Given the description of an element on the screen output the (x, y) to click on. 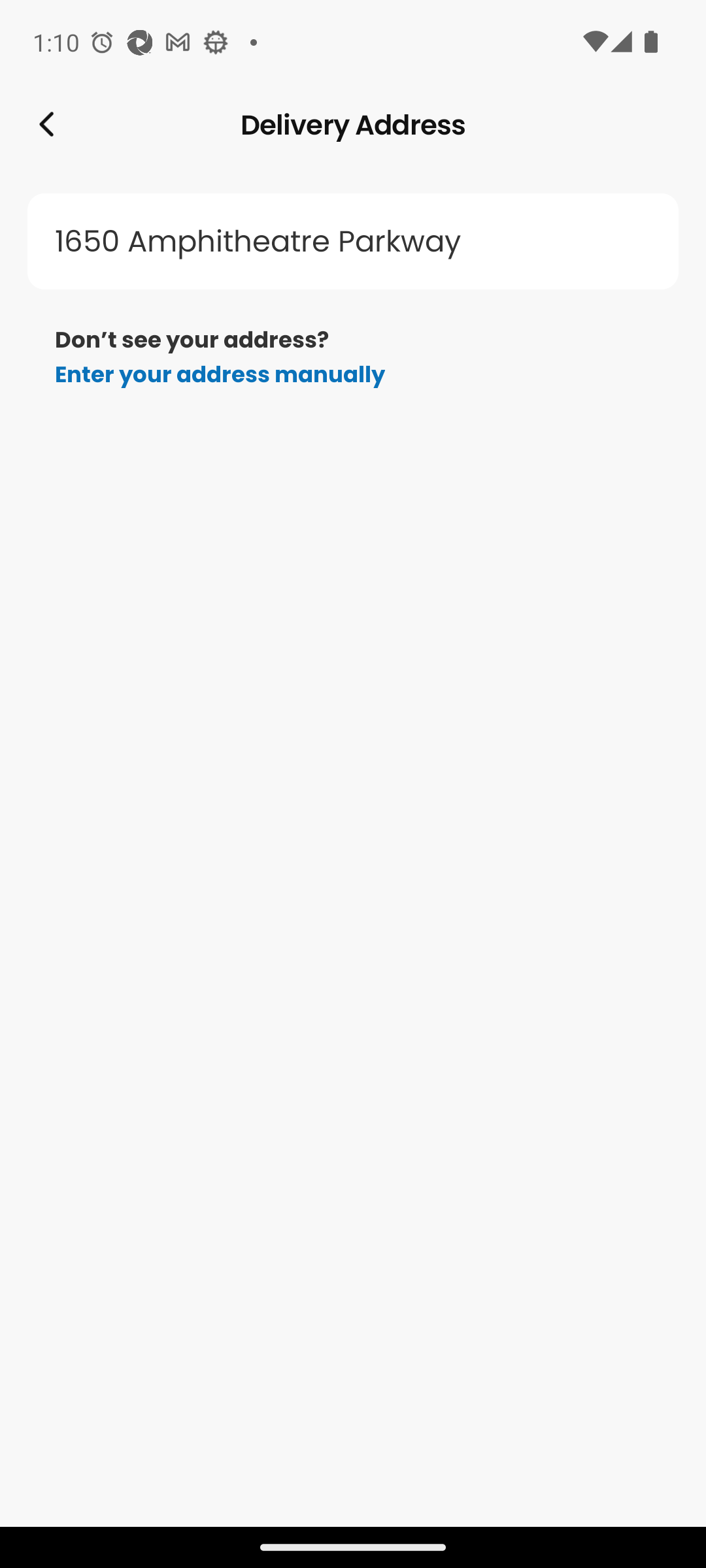
1650 Amphitheatre Parkway (352, 241)
Enter your address manually (219, 374)
